Given the description of an element on the screen output the (x, y) to click on. 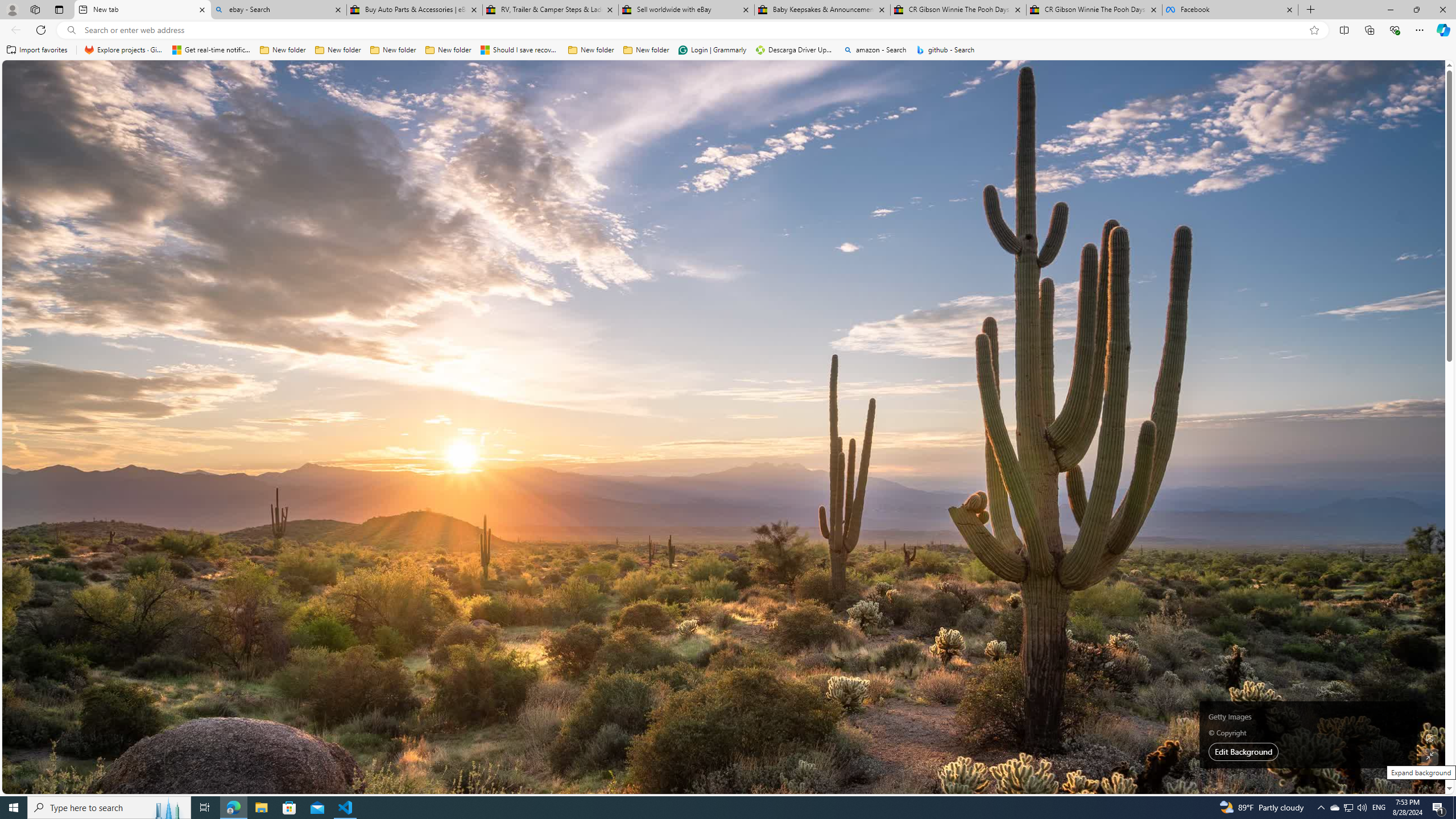
MUO (296, 288)
AutomationID: tab-13 (417, 328)
tab-4 (1032, 509)
Wikipedia (578, 126)
Microsoft start (81, 78)
Reuters (299, 424)
AutomationID: tab-28 (489, 328)
View comments 8 Comment (883, 505)
